Given the description of an element on the screen output the (x, y) to click on. 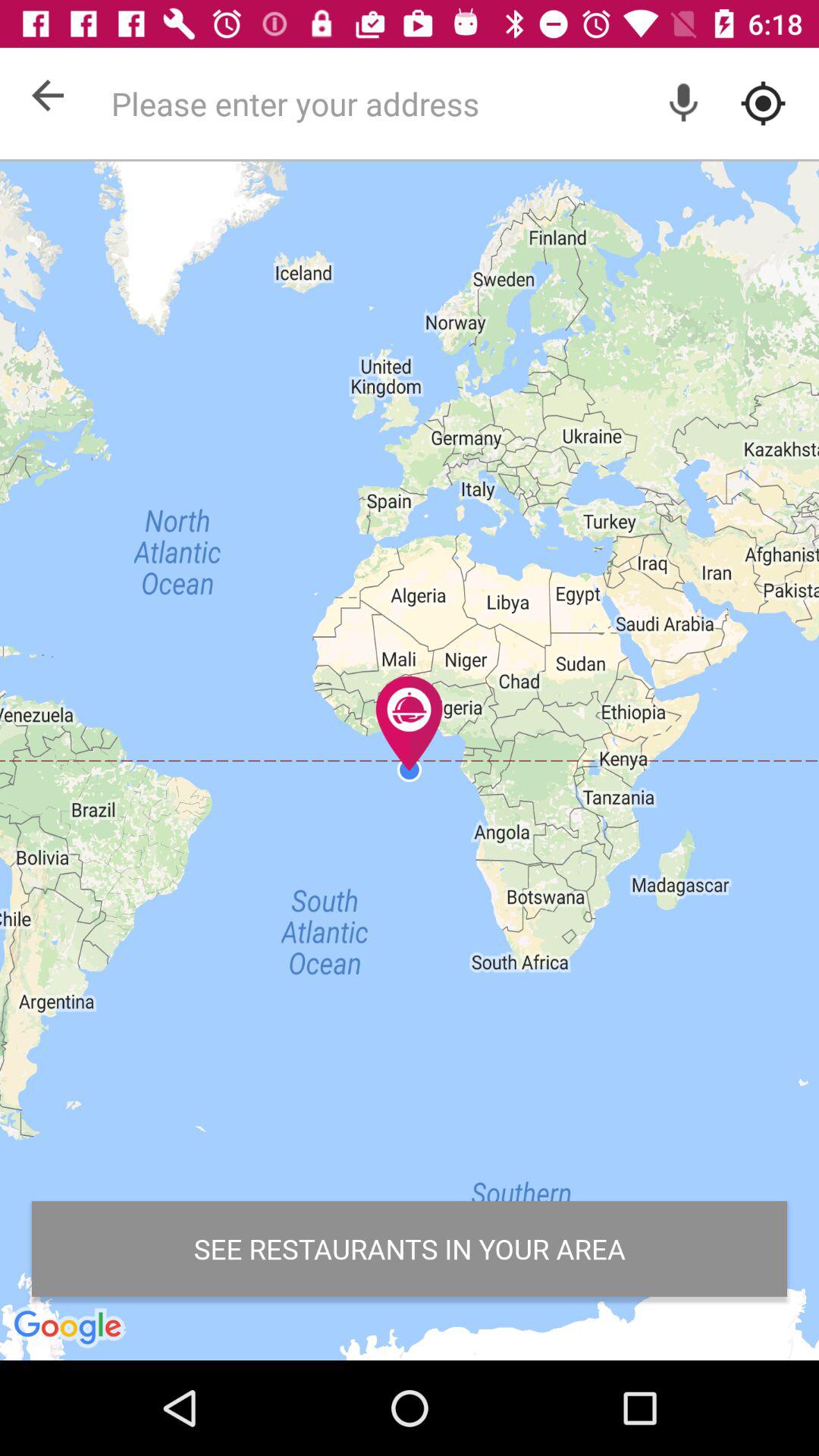
address search option (457, 103)
